Given the description of an element on the screen output the (x, y) to click on. 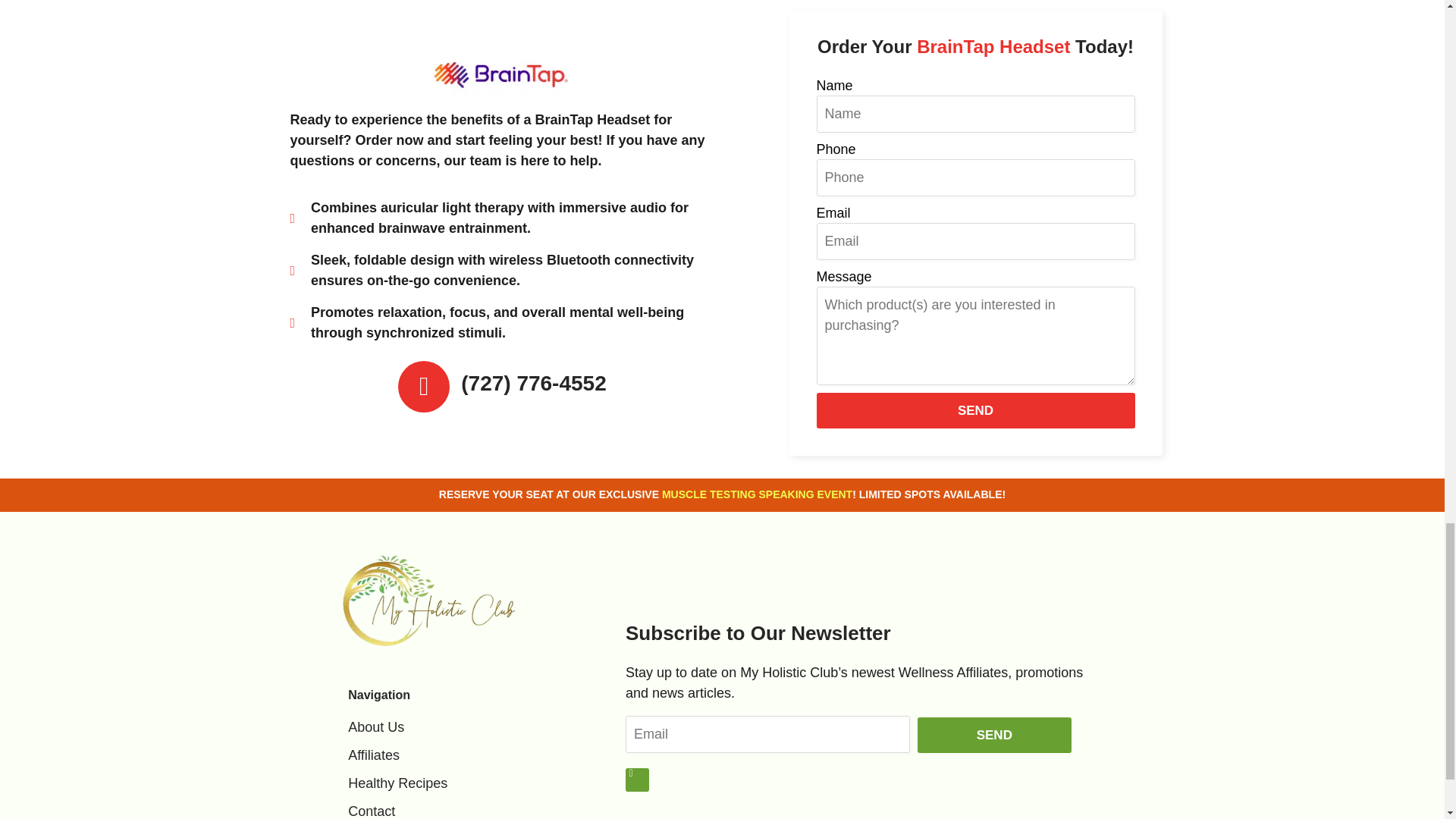
Affiliates (459, 755)
Healthy Recipes (459, 783)
About Us (459, 727)
Contact (459, 810)
SEND (974, 410)
